Given the description of an element on the screen output the (x, y) to click on. 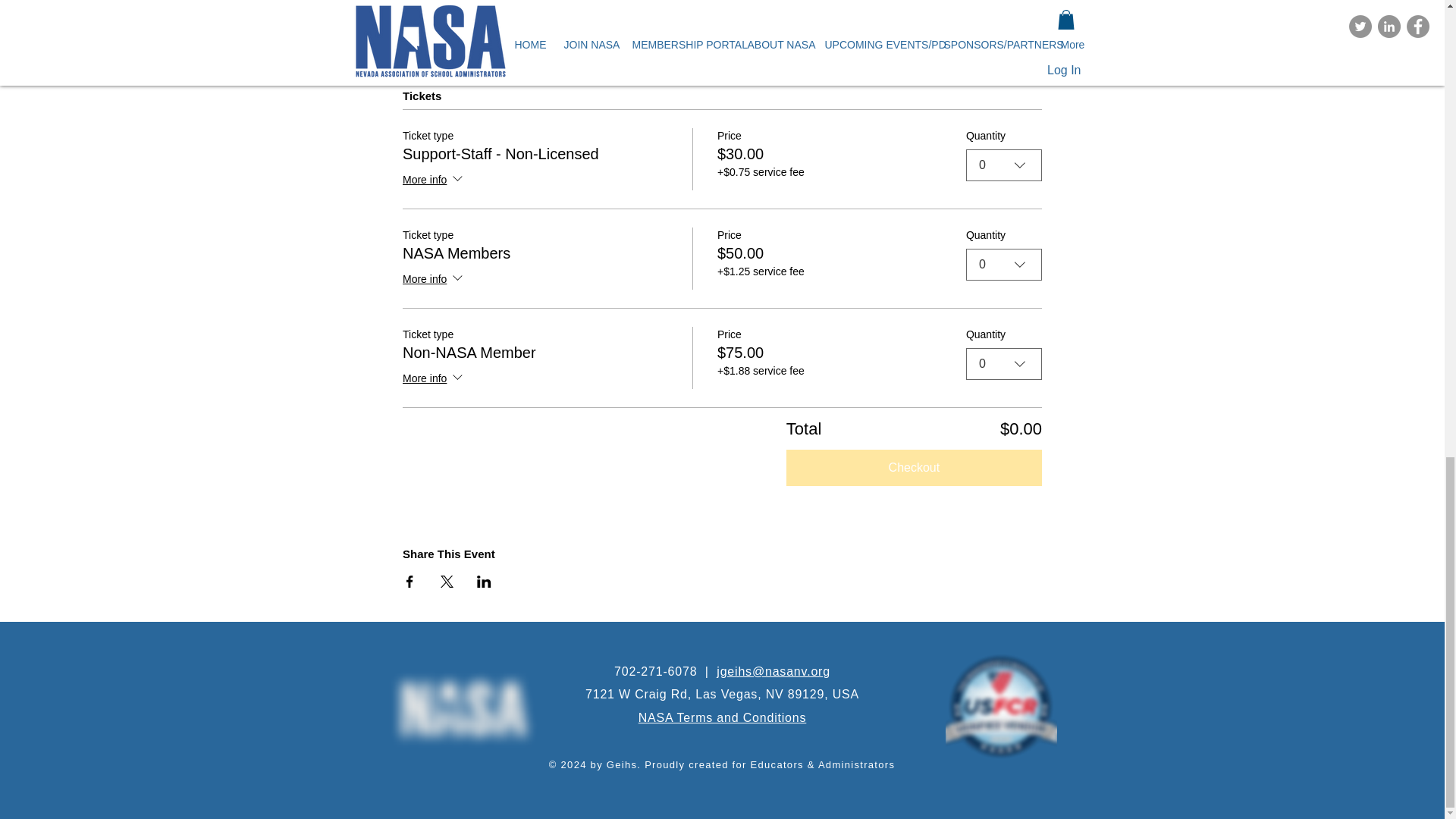
NASA Terms and Conditions (722, 717)
Checkout (914, 467)
0 (1004, 164)
0 (1004, 264)
More info (434, 379)
0 (1004, 364)
More info (434, 180)
More info (434, 279)
